Given the description of an element on the screen output the (x, y) to click on. 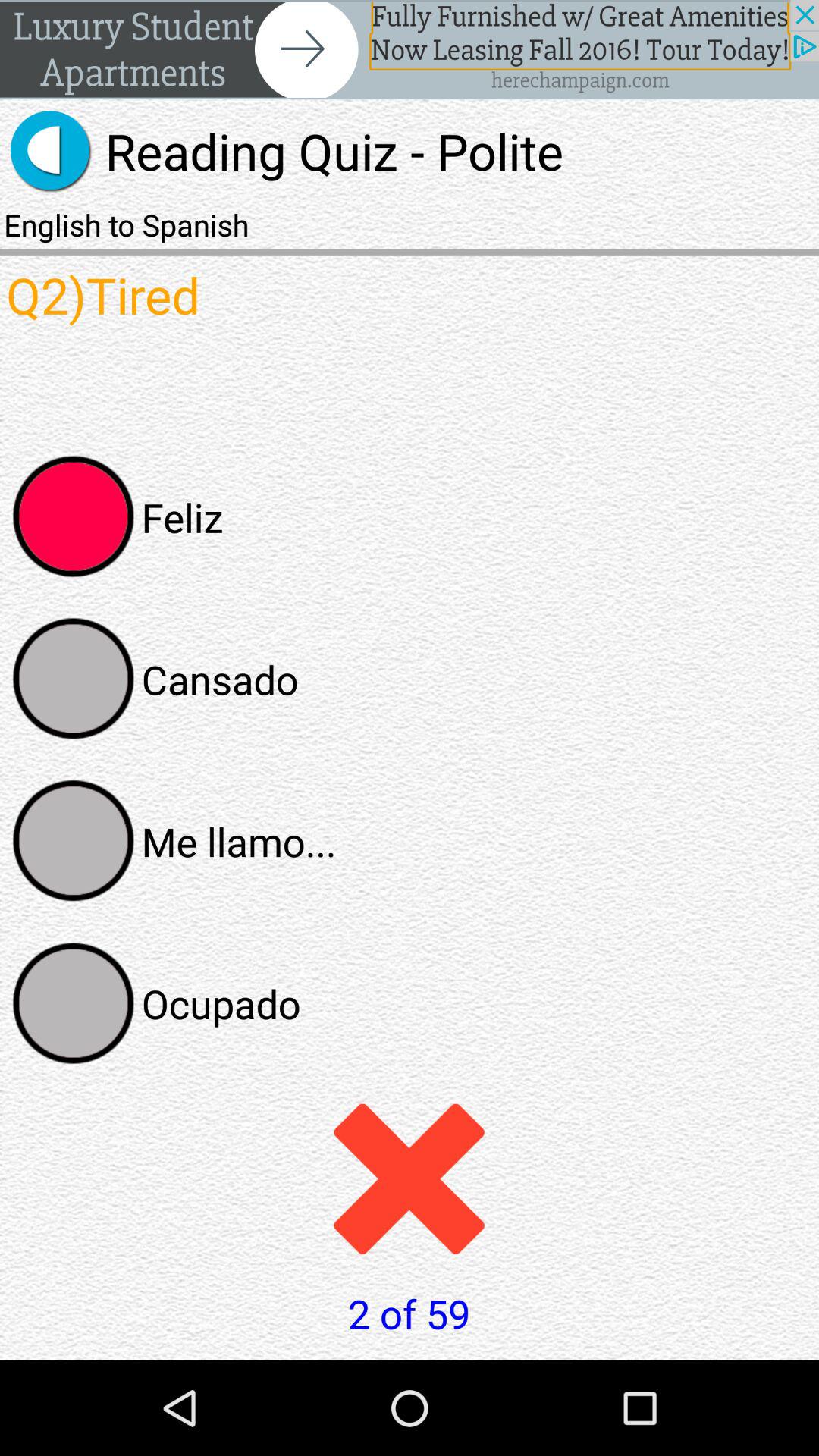
select answer (73, 678)
